Given the description of an element on the screen output the (x, y) to click on. 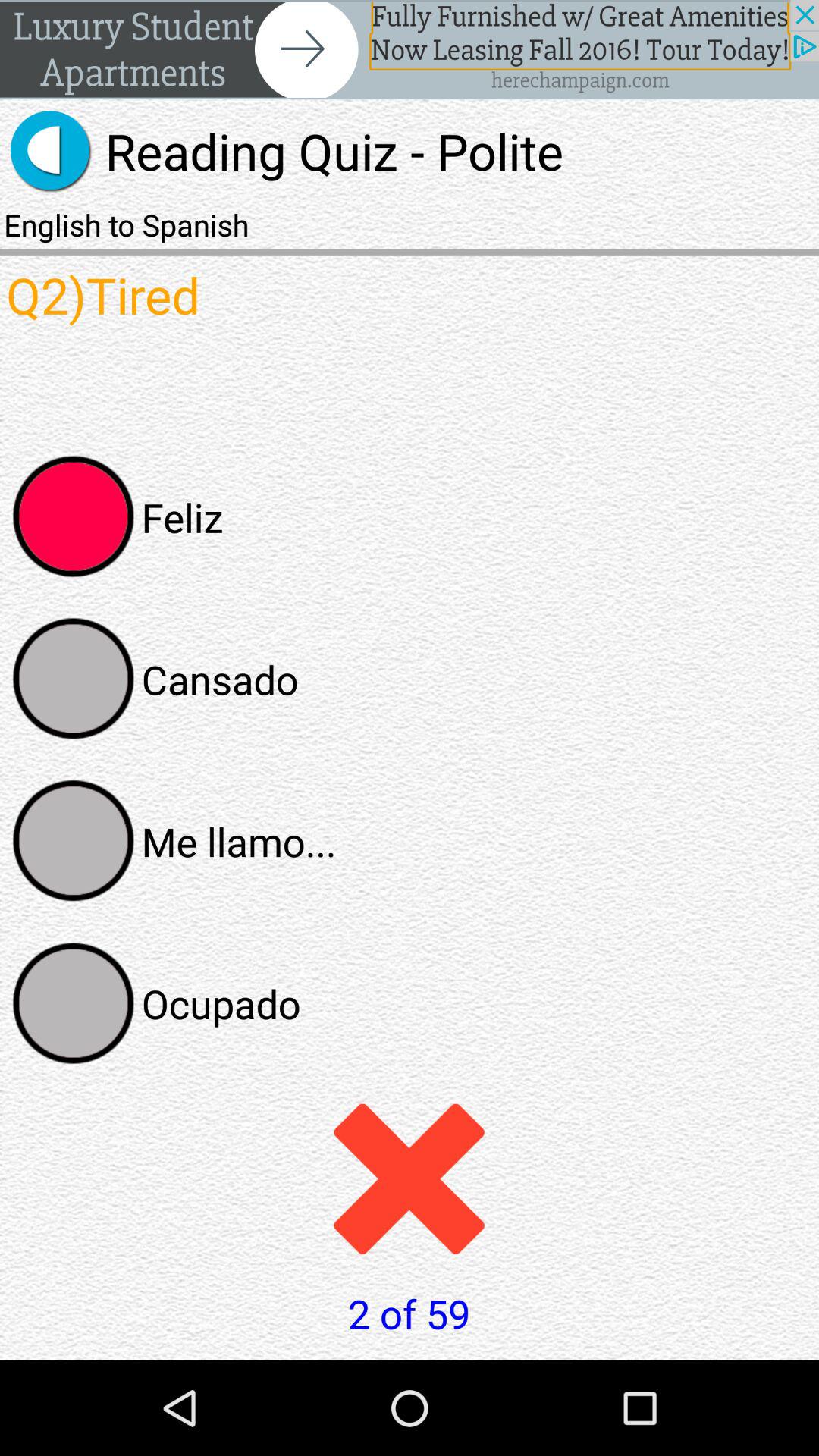
select answer (73, 678)
